Given the description of an element on the screen output the (x, y) to click on. 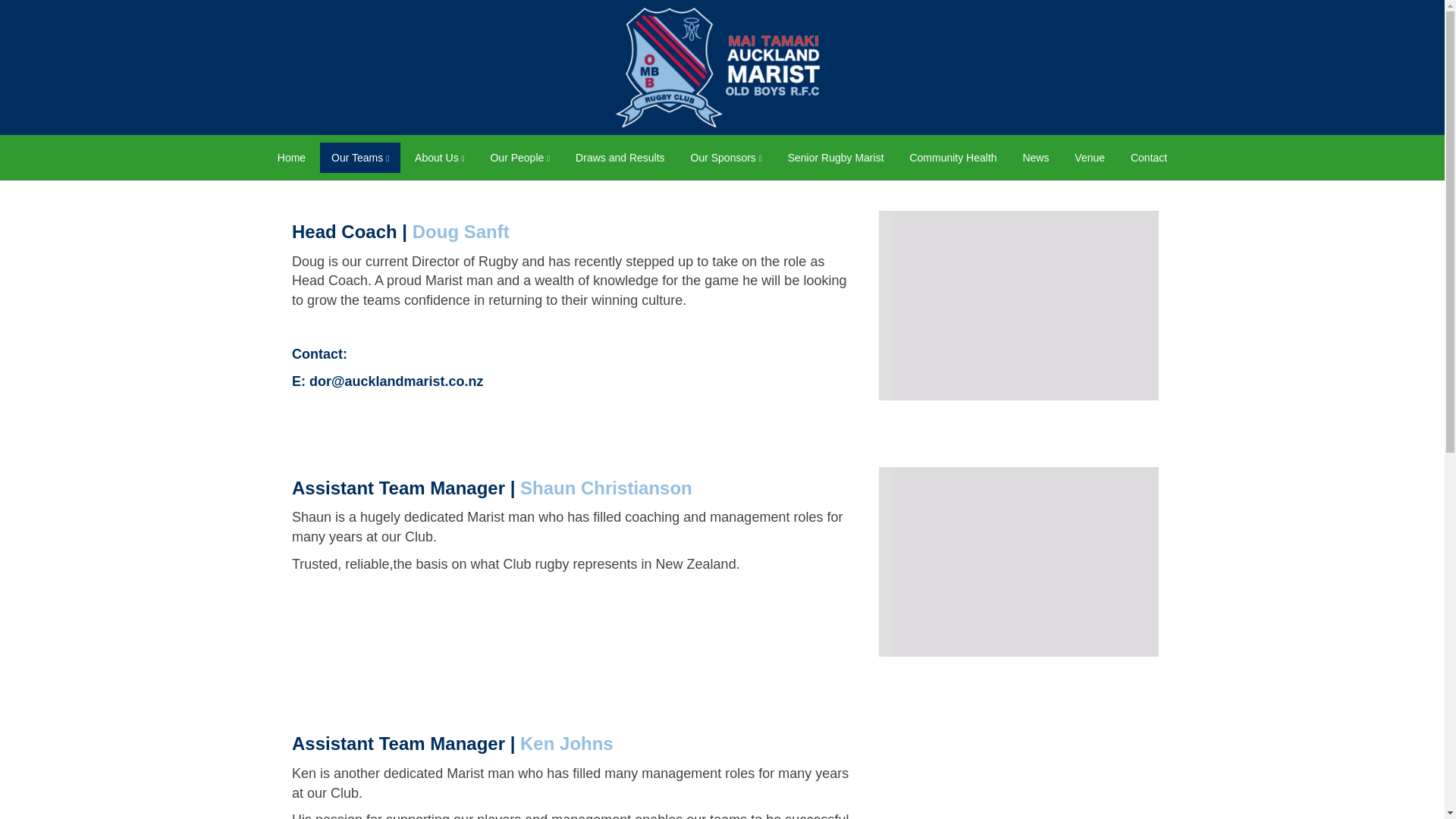
Our Teams (360, 157)
Home (291, 157)
About Us (439, 157)
Our People (519, 157)
